Given the description of an element on the screen output the (x, y) to click on. 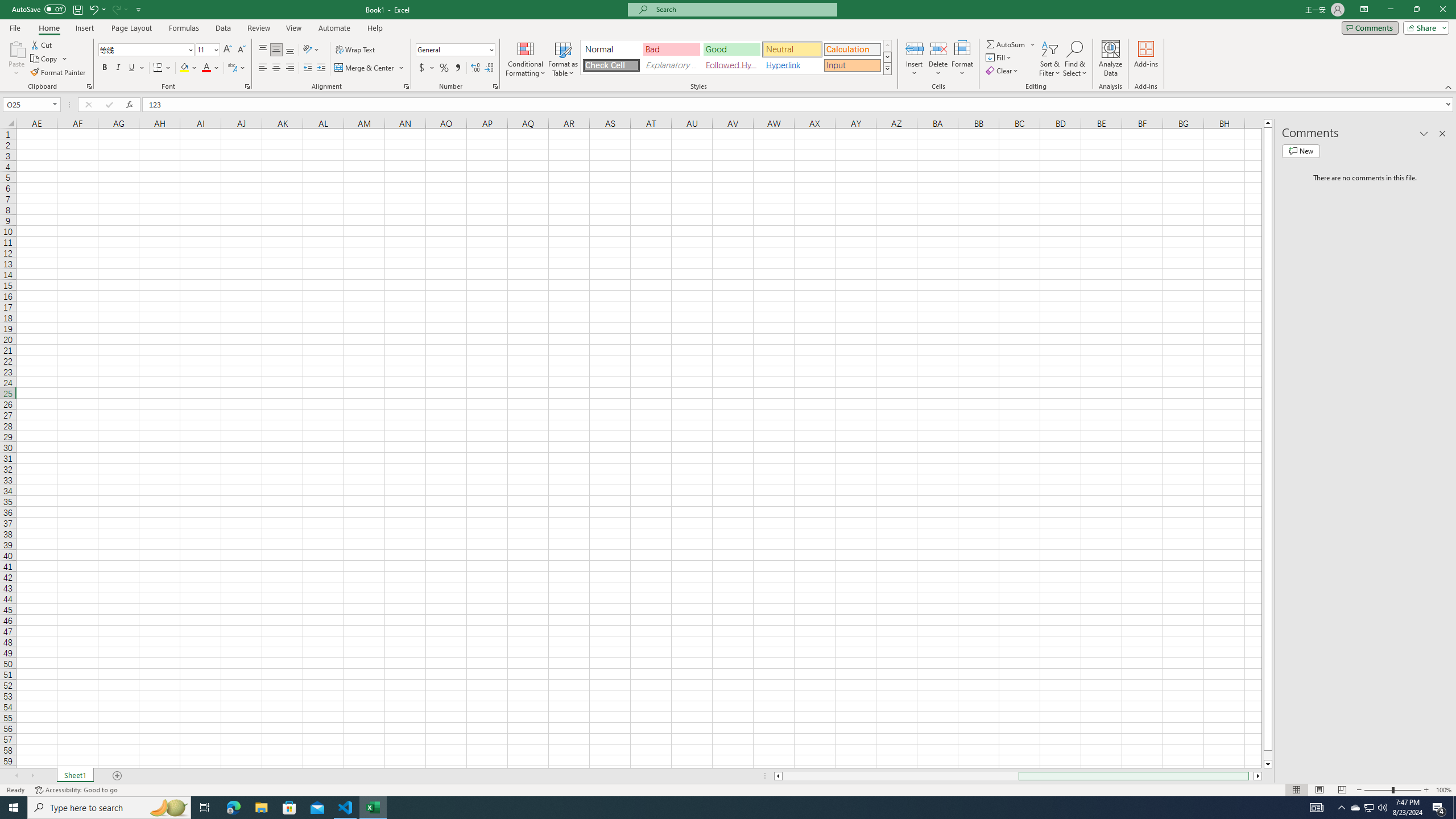
Bold (104, 67)
Format Cell Number (494, 85)
Neutral (791, 49)
Office Clipboard... (88, 85)
Sort & Filter (1049, 58)
Borders (162, 67)
Bottom Border (157, 67)
